Given the description of an element on the screen output the (x, y) to click on. 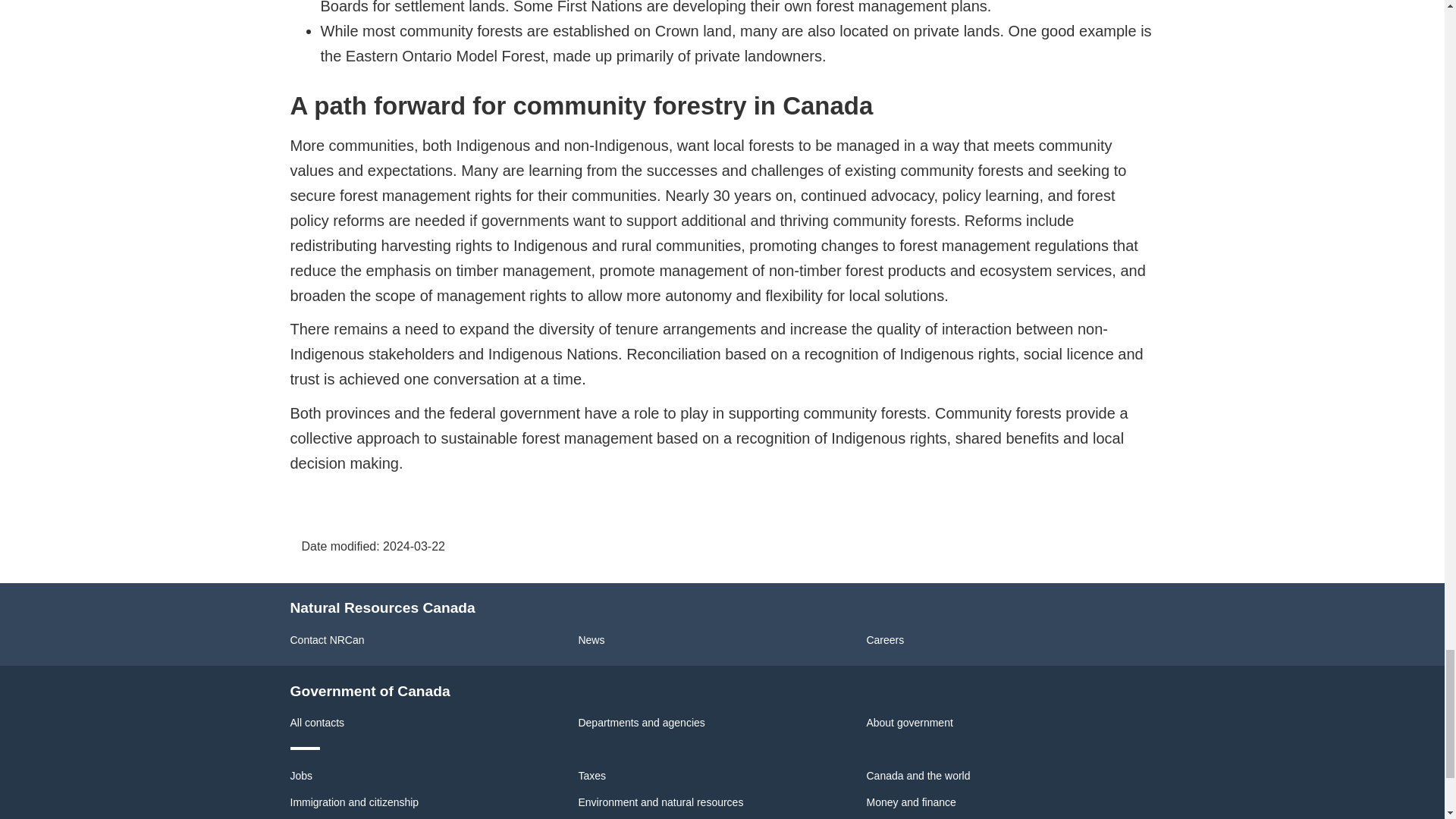
Contact NRCan (326, 639)
Careers (885, 639)
Environment and natural resources (660, 802)
Departments and agencies (641, 722)
All contacts (316, 722)
About government (909, 722)
Immigration and citizenship (354, 802)
News (591, 639)
Jobs (301, 775)
Taxes (591, 775)
